Given the description of an element on the screen output the (x, y) to click on. 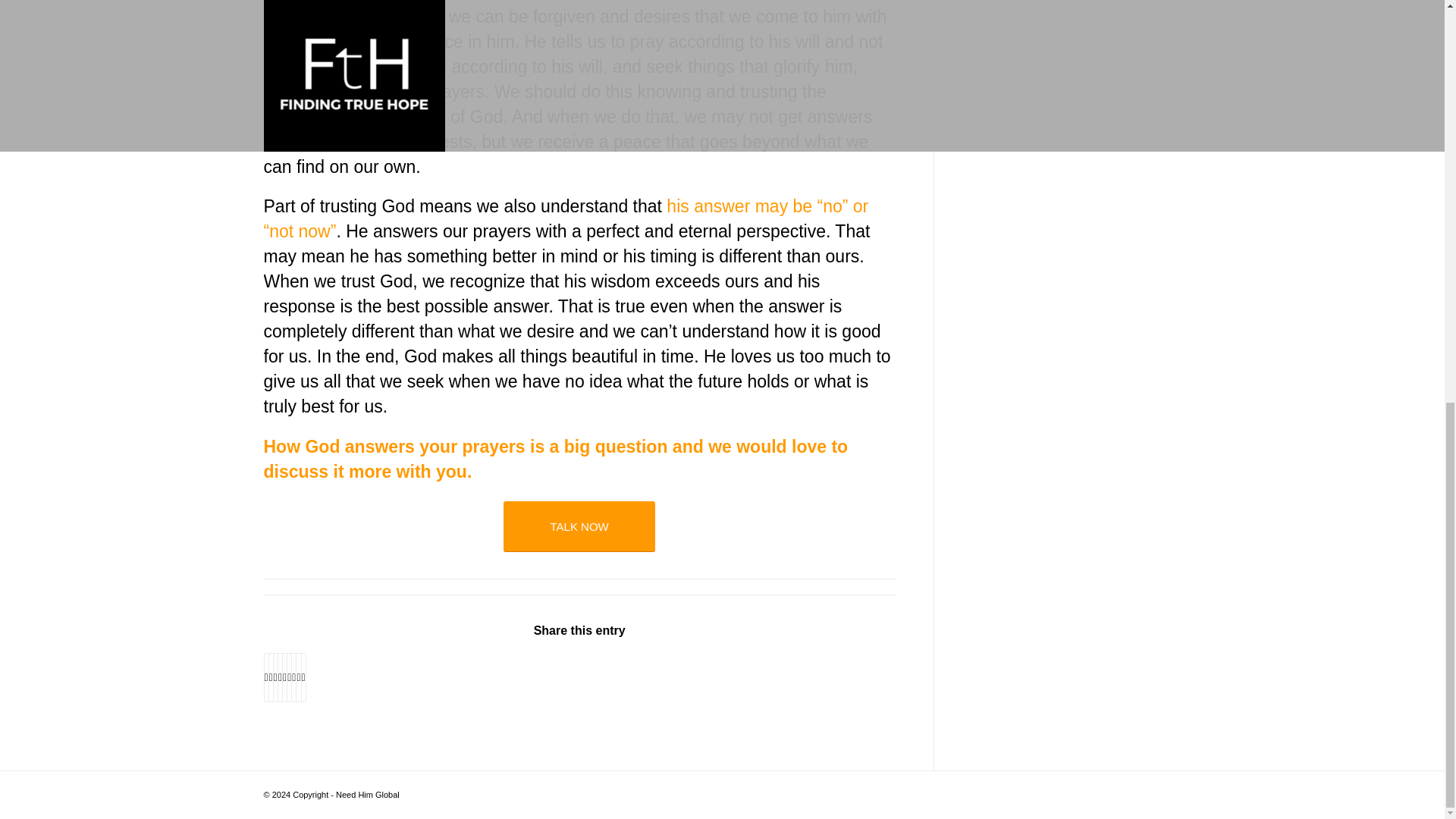
TALK NOW (579, 526)
